Given the description of an element on the screen output the (x, y) to click on. 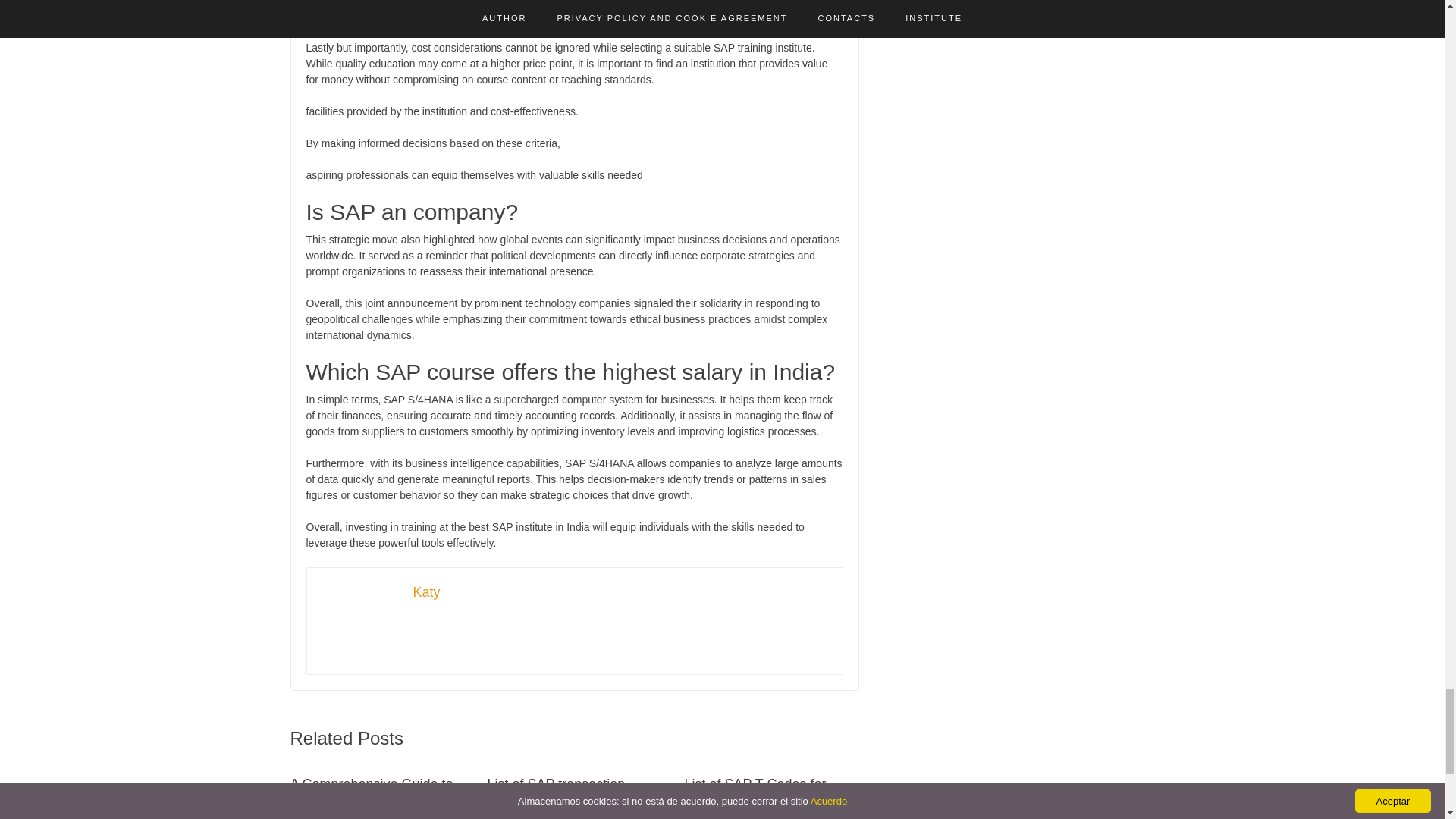
List of SAP T Codes for Finance (754, 792)
Katy (425, 591)
